Given the description of an element on the screen output the (x, y) to click on. 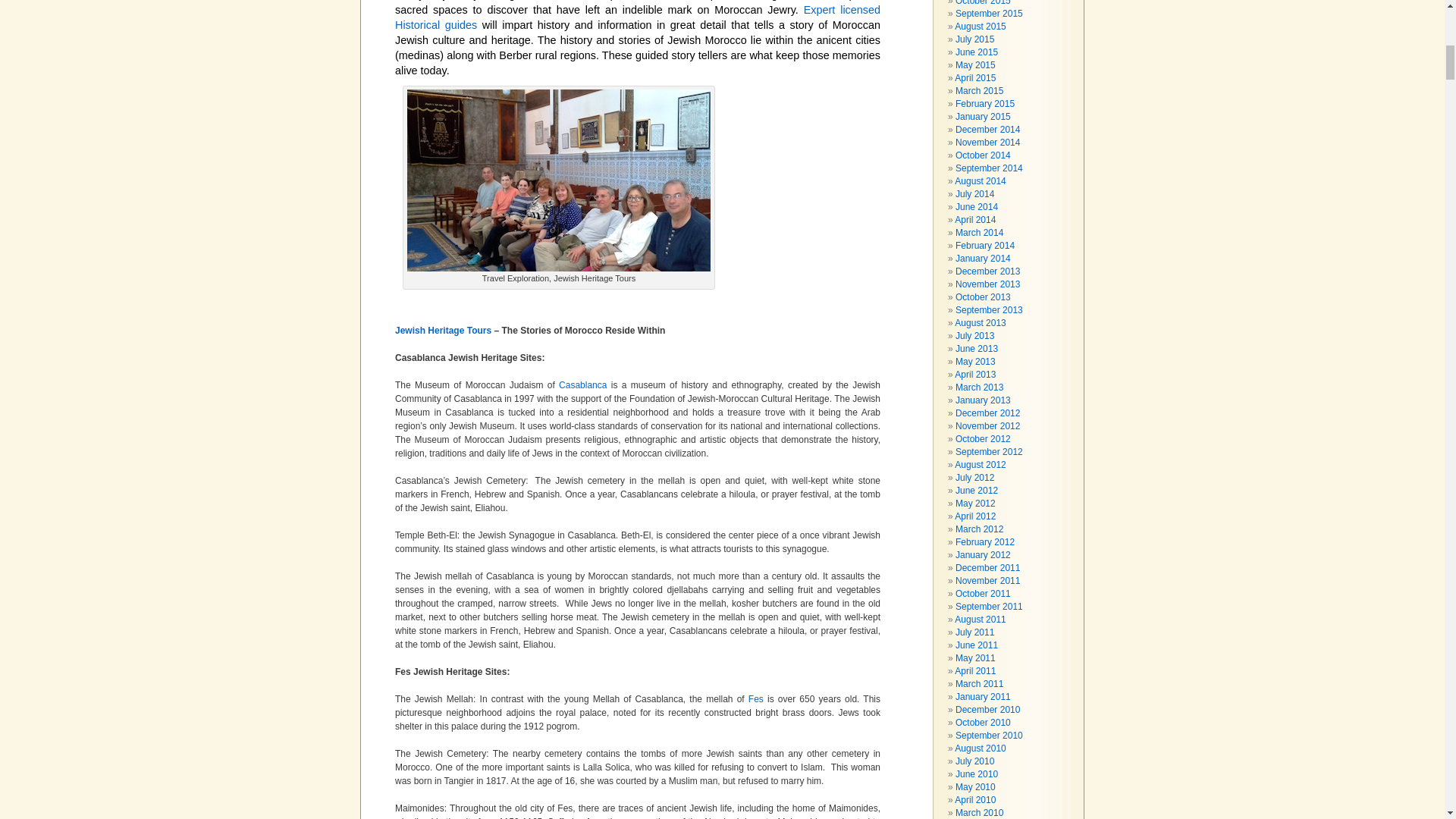
Jewish Heritage Tours (443, 330)
Casablanca (583, 385)
